Given the description of an element on the screen output the (x, y) to click on. 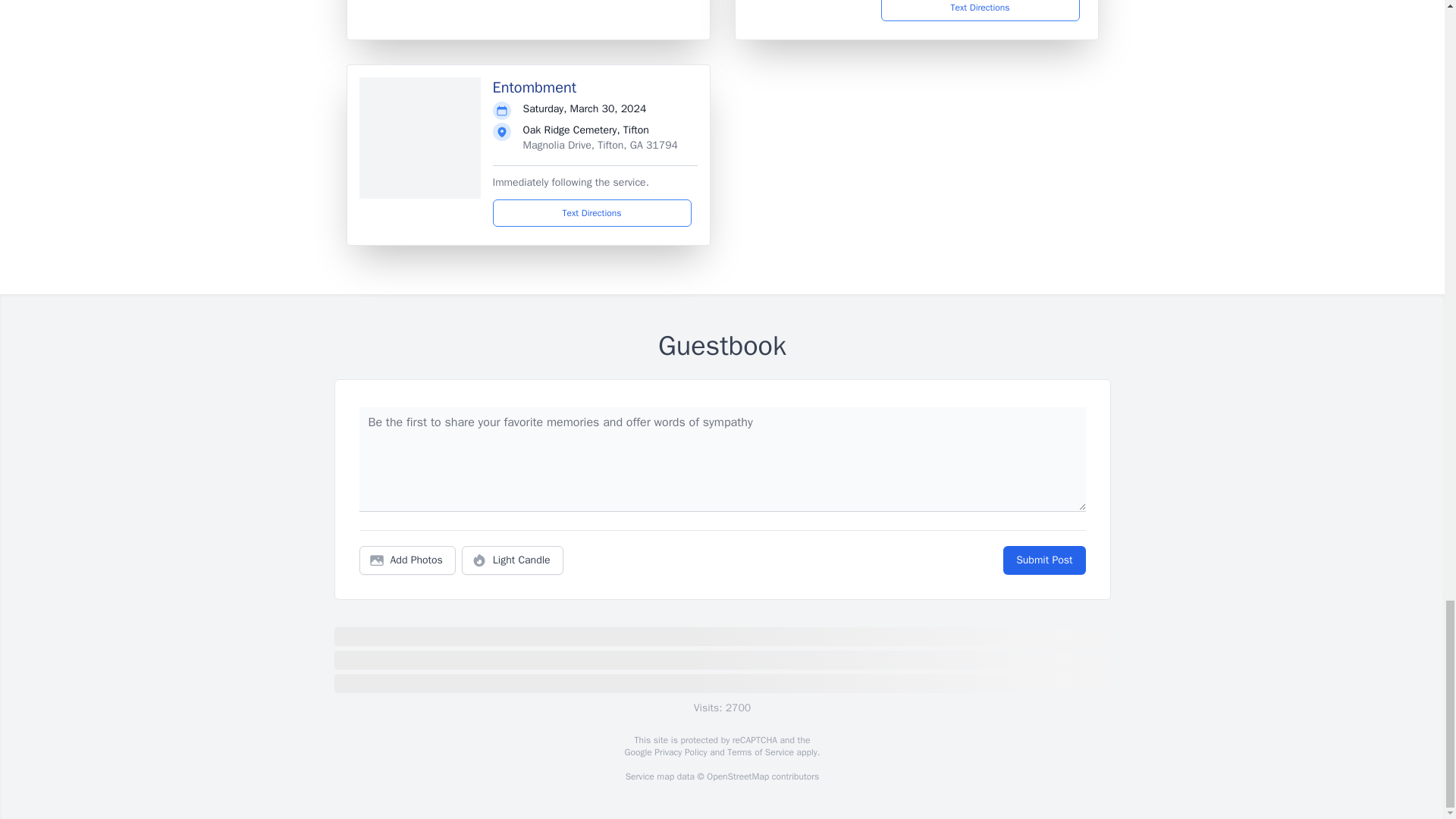
OpenStreetMap (737, 776)
Magnolia Drive, Tifton, GA 31794 (600, 144)
Add Photos (407, 560)
Text Directions (592, 212)
Privacy Policy (679, 752)
Light Candle (512, 560)
Text Directions (980, 10)
Terms of Service (759, 752)
Submit Post (1043, 560)
